Given the description of an element on the screen output the (x, y) to click on. 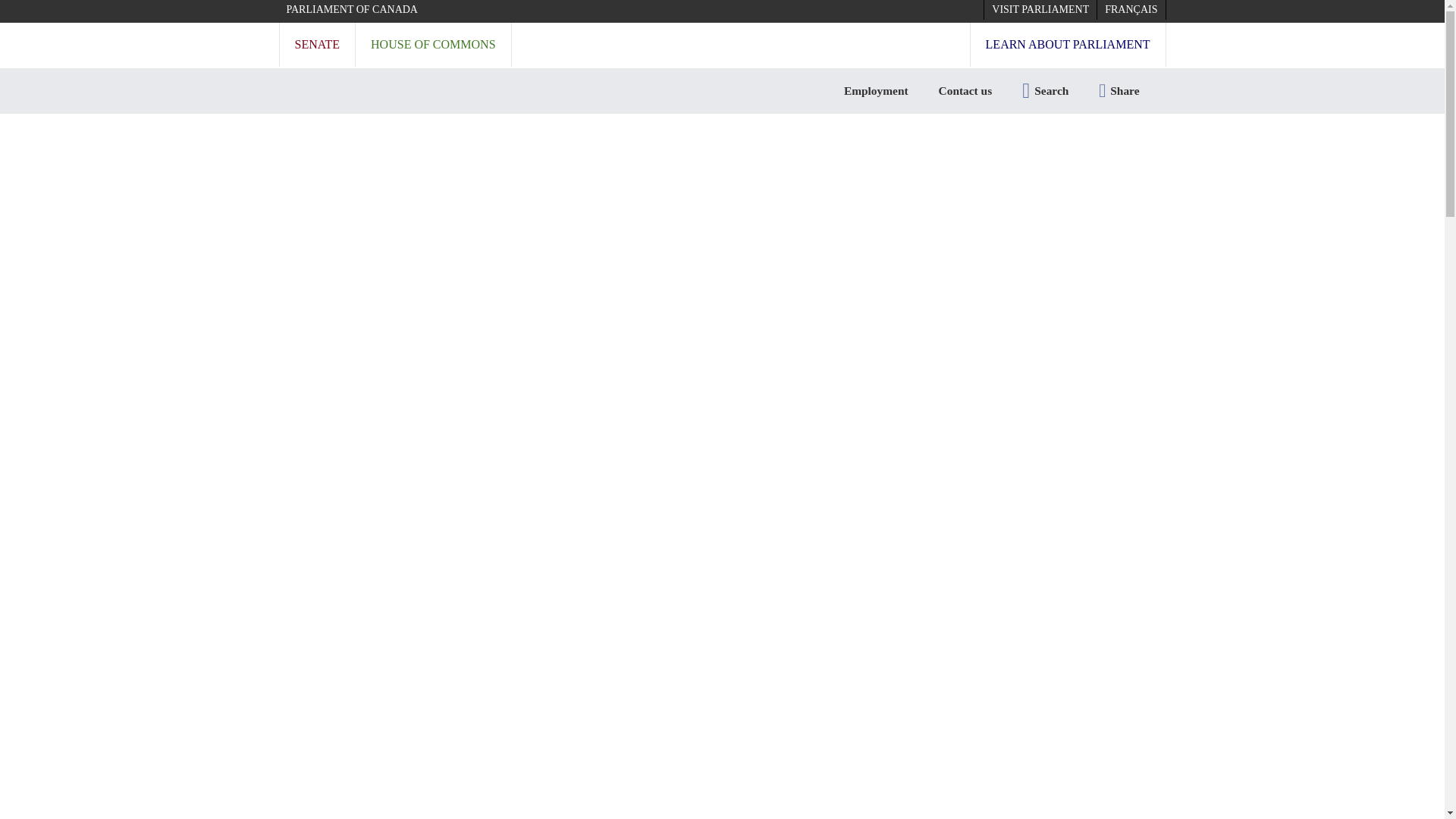
Search (1045, 90)
Canadian House of Commons website (433, 44)
LEARN ABOUT PARLIAMENT (1067, 44)
VISIT PARLIAMENT (1040, 9)
HOUSE OF COMMONS (433, 44)
Share (1118, 90)
Learn about Parliament (336, 139)
SENATE (317, 44)
The Branches of Government (721, 139)
Senate of Canada website (317, 44)
Search entire Library of Parliament Website (1045, 90)
Employment (875, 90)
Understanding Parliament (449, 139)
Contact us (965, 90)
Candian Parliament career portal (875, 90)
